Given the description of an element on the screen output the (x, y) to click on. 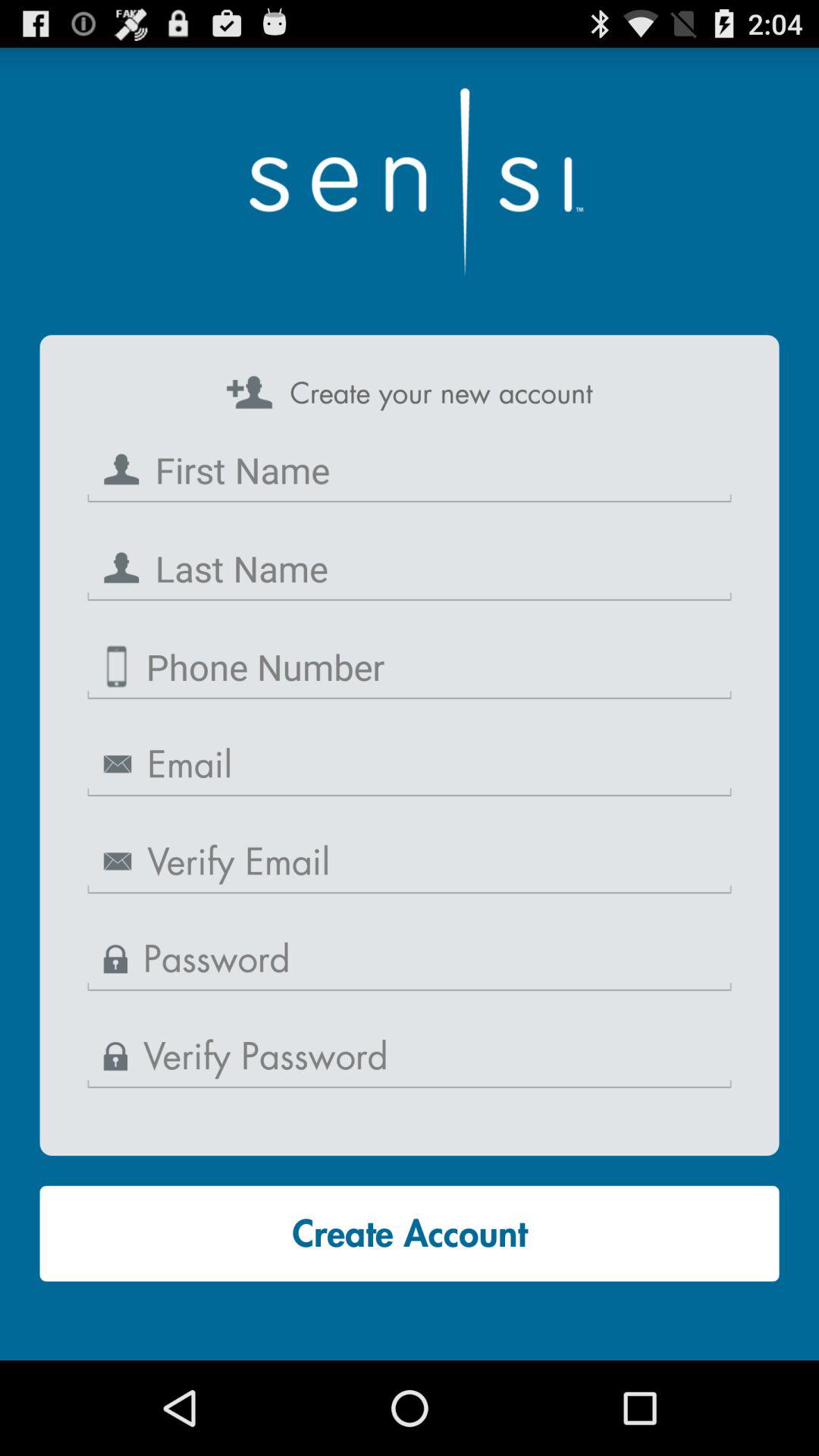
verify email (409, 862)
